Given the description of an element on the screen output the (x, y) to click on. 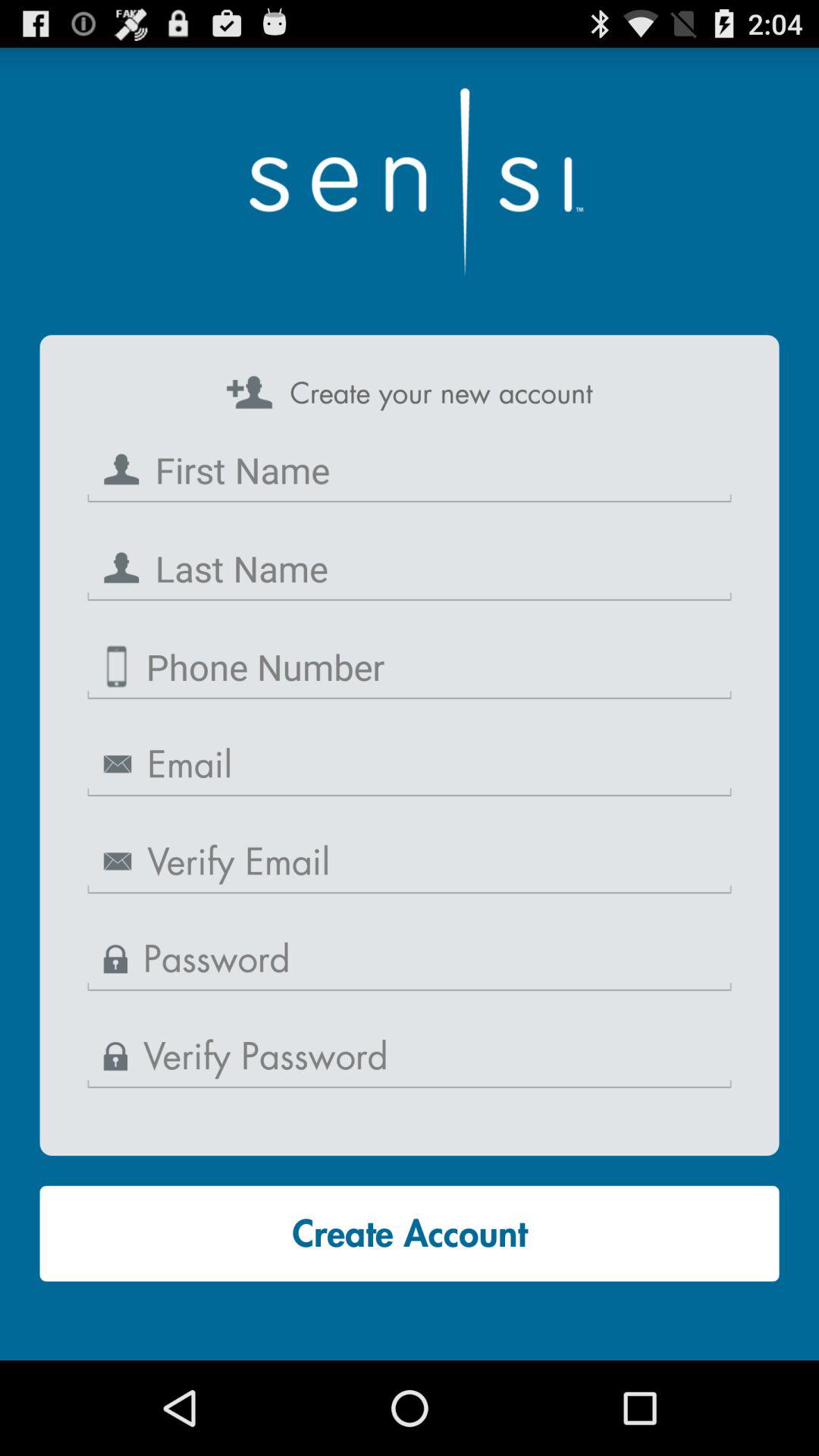
verify email (409, 862)
